Given the description of an element on the screen output the (x, y) to click on. 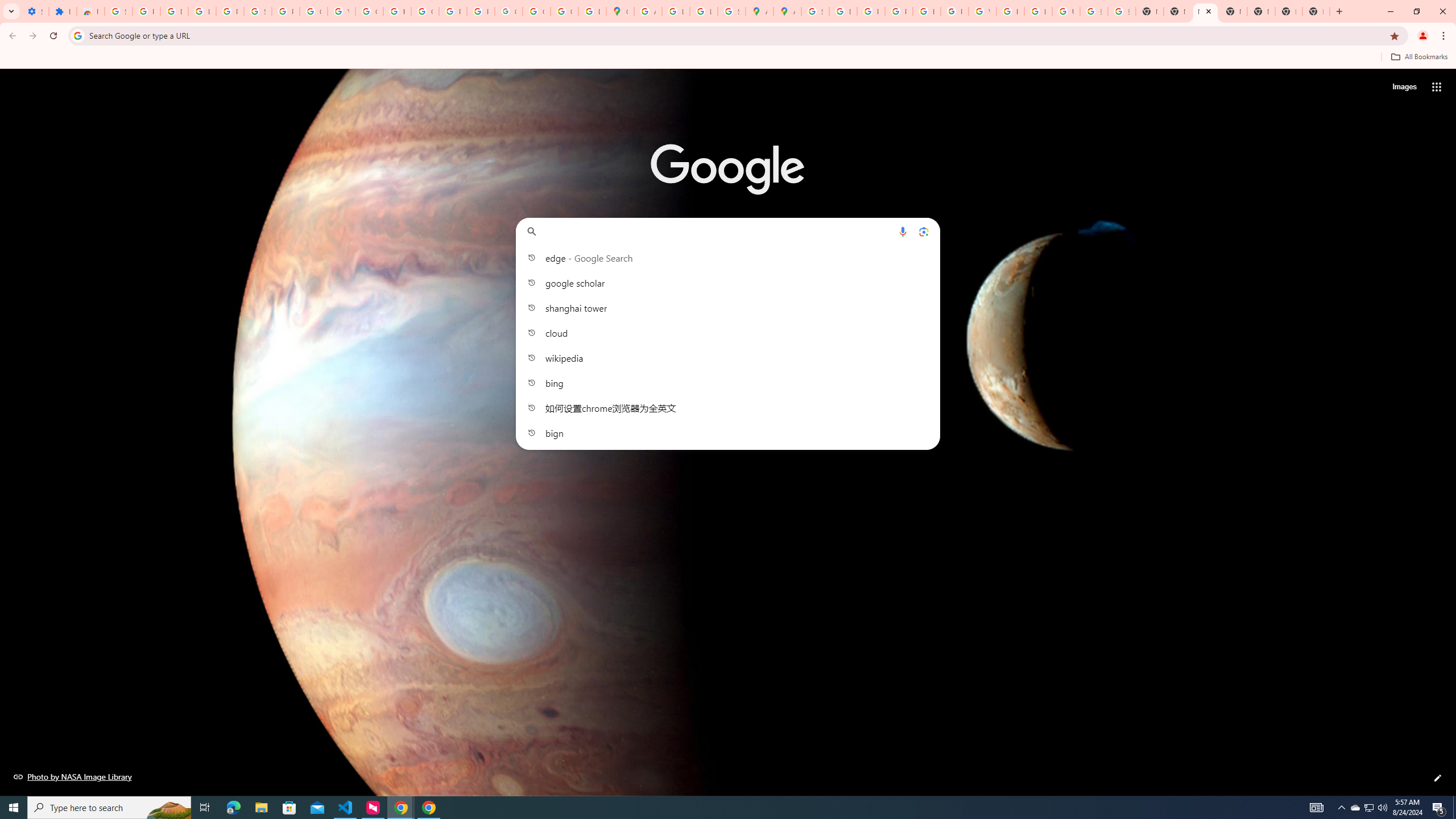
Sign in - Google Accounts (118, 11)
Privacy Help Center - Policies Help (870, 11)
Sign in - Google Accounts (257, 11)
Google Maps (620, 11)
Search by voice (902, 230)
Sign in - Google Accounts (815, 11)
Extensions (62, 11)
https://scholar.google.com/ (397, 11)
Search for Images  (1403, 87)
New Tab (1288, 11)
